Given the description of an element on the screen output the (x, y) to click on. 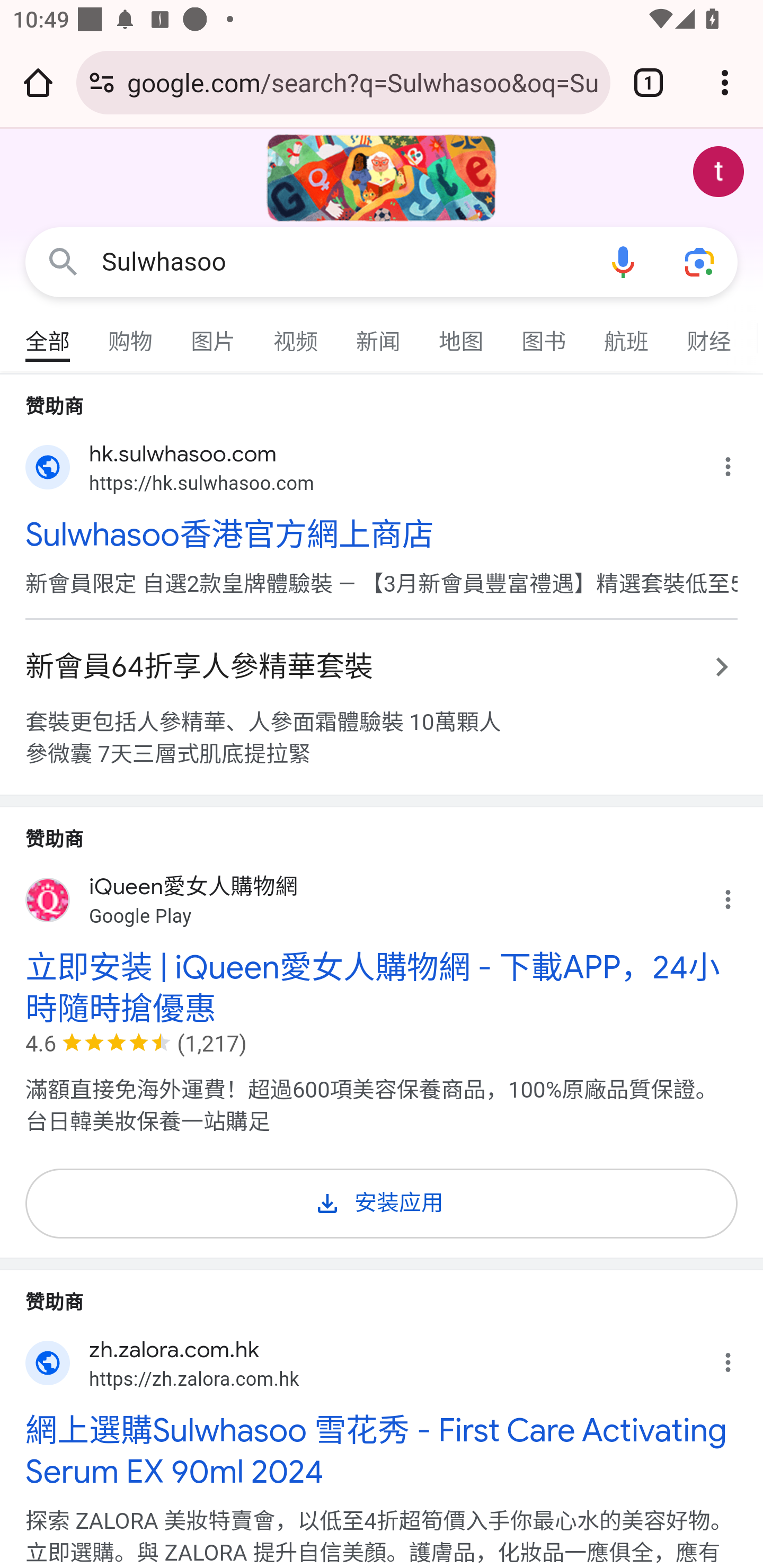
Open the home page (38, 82)
Connection is secure (101, 82)
Switch or close tabs (648, 82)
Customize and control Google Chrome (724, 82)
2024 年国际妇女节 (381, 177)
Google 账号： test appium (testappium002@gmail.com) (718, 171)
Google 搜索 (63, 262)
使用拍照功能或照片进行搜索 (699, 262)
Sulwhasoo (343, 261)
购物 (131, 333)
图片 (213, 333)
视频 (296, 333)
新闻 (379, 333)
地图 (461, 333)
图书 (544, 333)
航班 (627, 333)
财经 (709, 333)
为什么会显示该广告？ (738, 462)
Sulwhasoo香港官方網上商店 (381, 533)
为什么会显示该广告？ (738, 894)
立即安装 | iQueen愛女人購物網 - 下載APP，24小時隨時搶優惠 (381, 988)
安装应用 (381, 1200)
为什么会显示该广告？ (738, 1357)
